Given the description of an element on the screen output the (x, y) to click on. 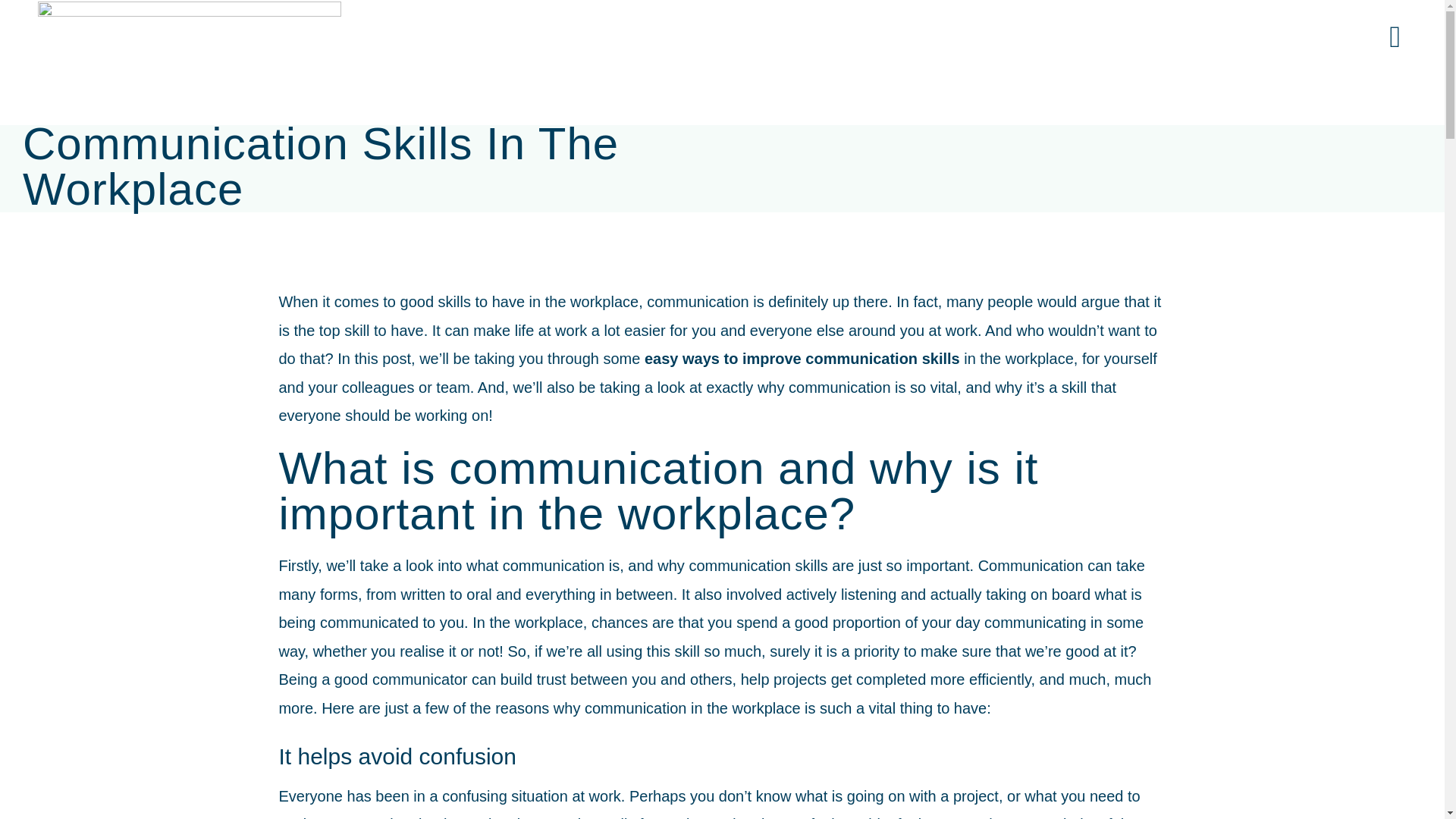
EasyWaysToImproveCommunicationSkillsInTheWorkplace (968, 90)
